Given the description of an element on the screen output the (x, y) to click on. 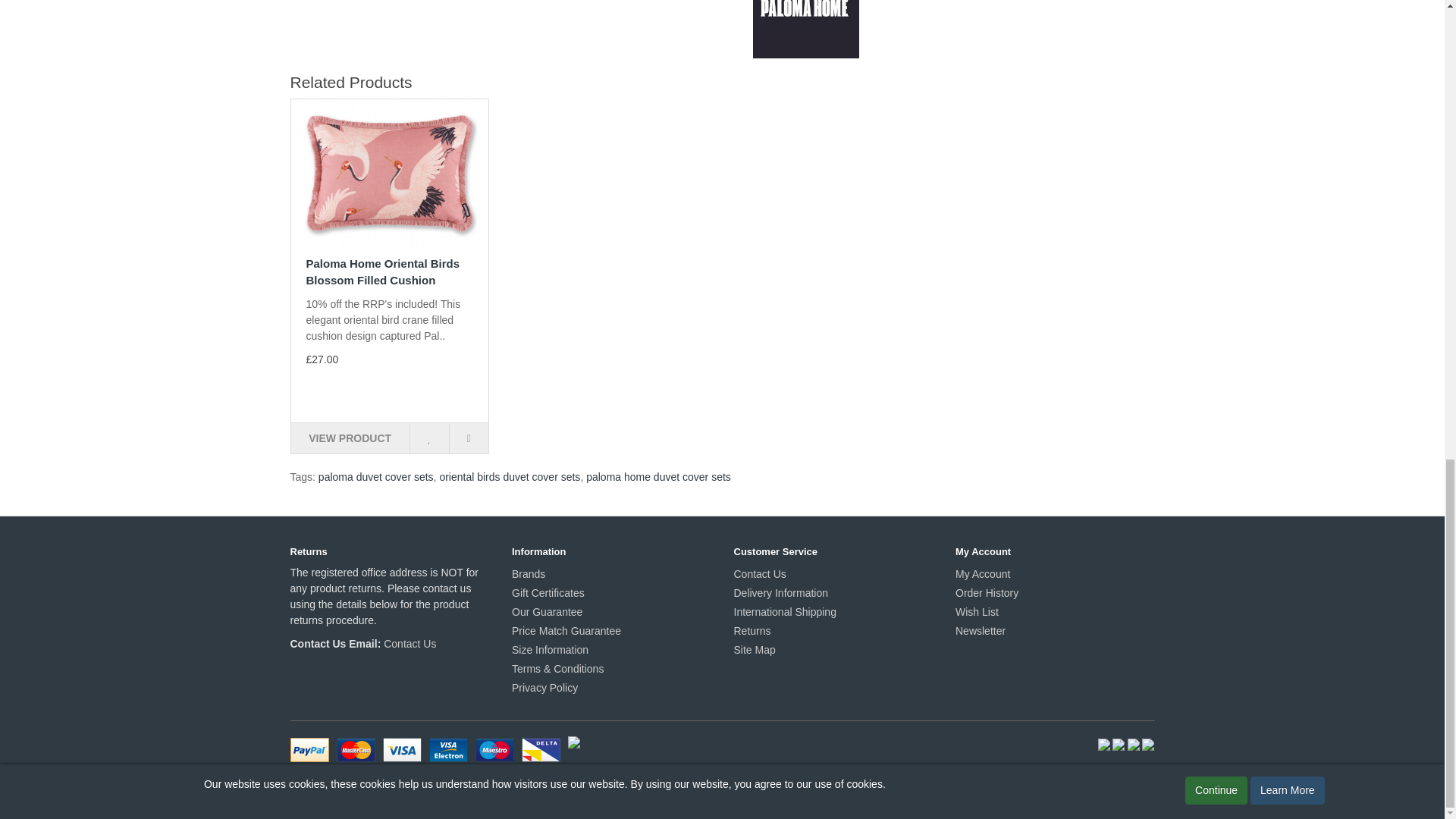
Paloma Home Oriental Birds Blossom Filled Cushion (390, 173)
